Given the description of an element on the screen output the (x, y) to click on. 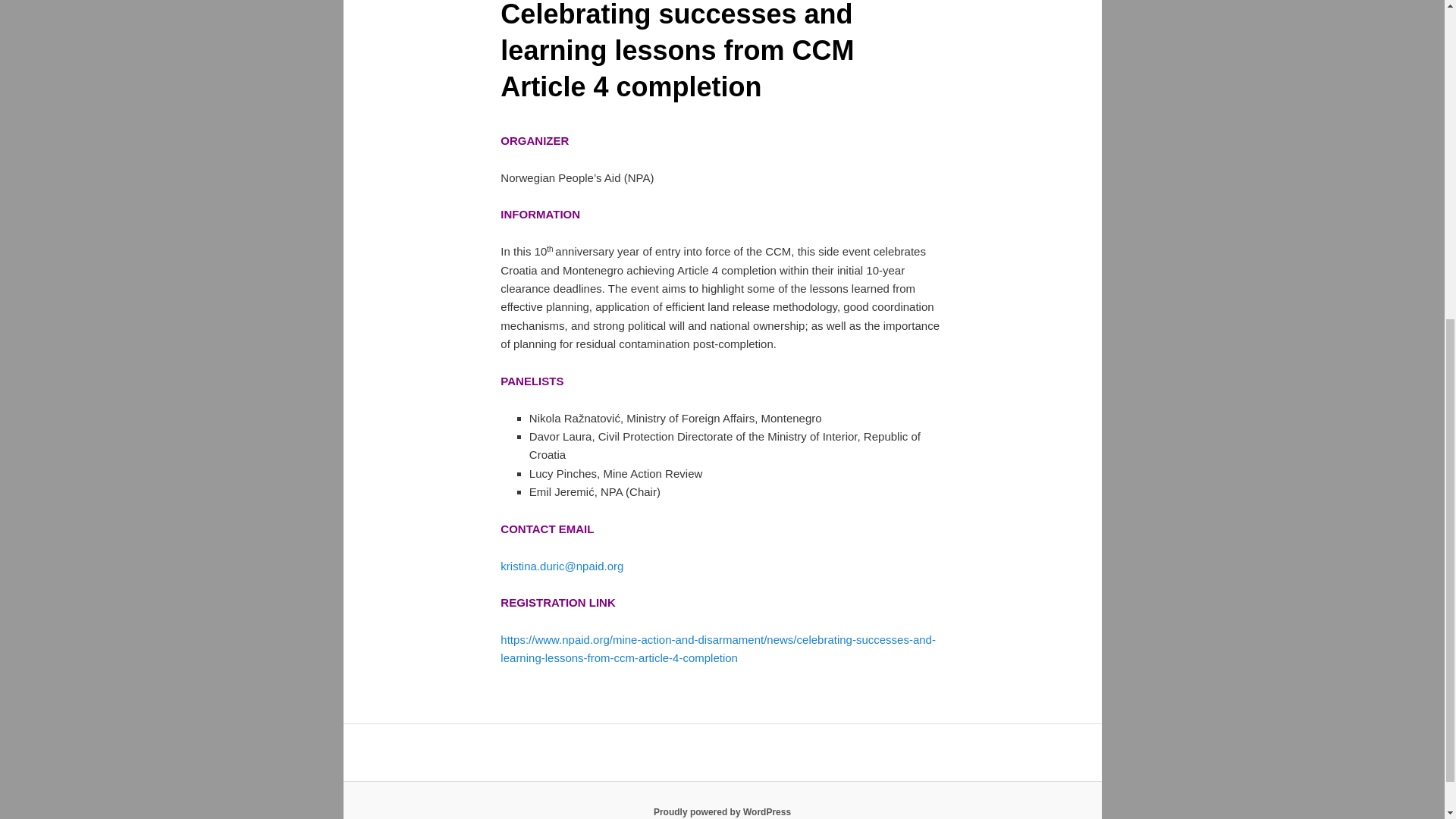
Semantic Personal Publishing Platform (721, 811)
